Given the description of an element on the screen output the (x, y) to click on. 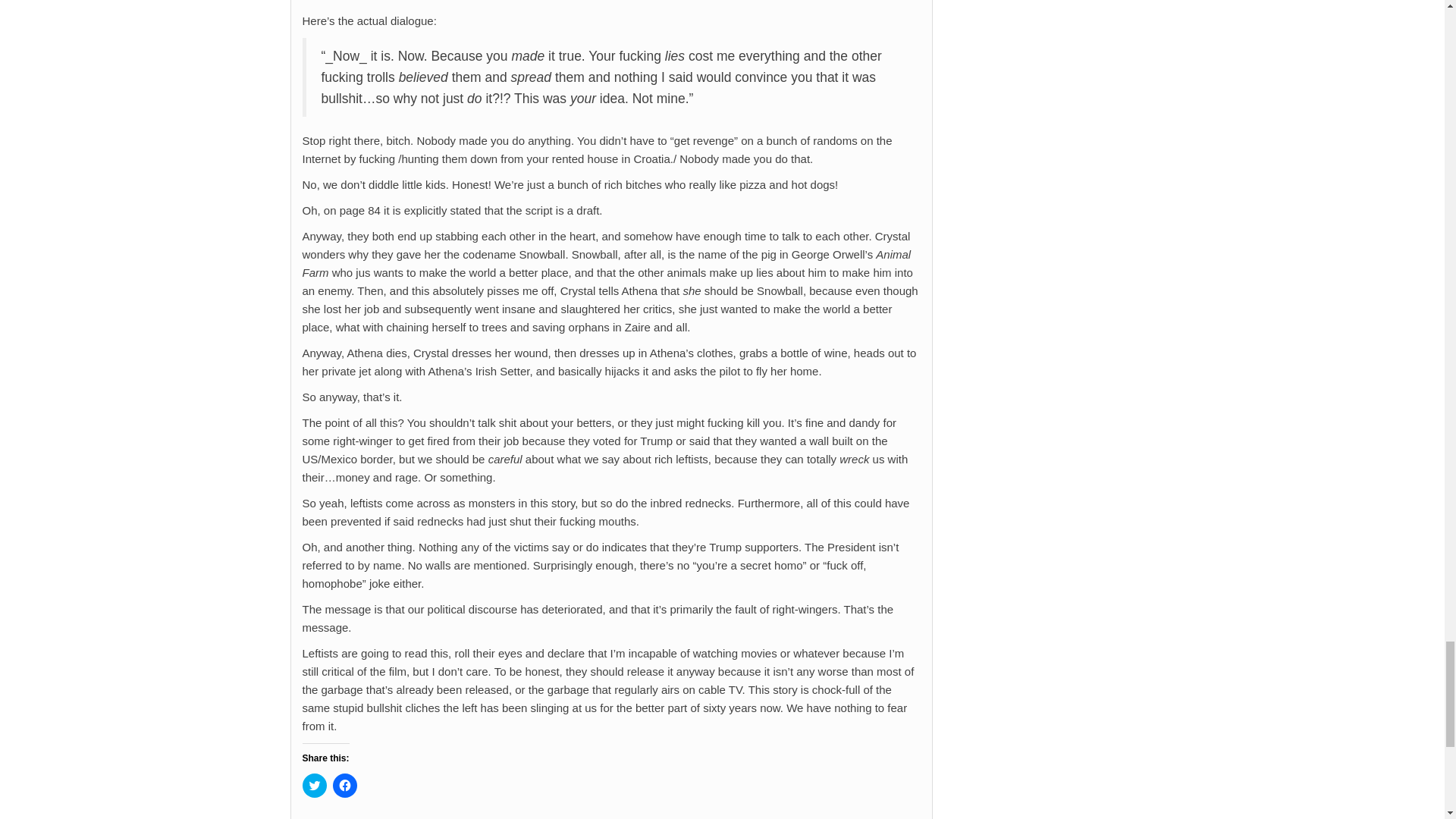
Click to share on Facebook (343, 785)
Click to share on Twitter (313, 785)
